Given the description of an element on the screen output the (x, y) to click on. 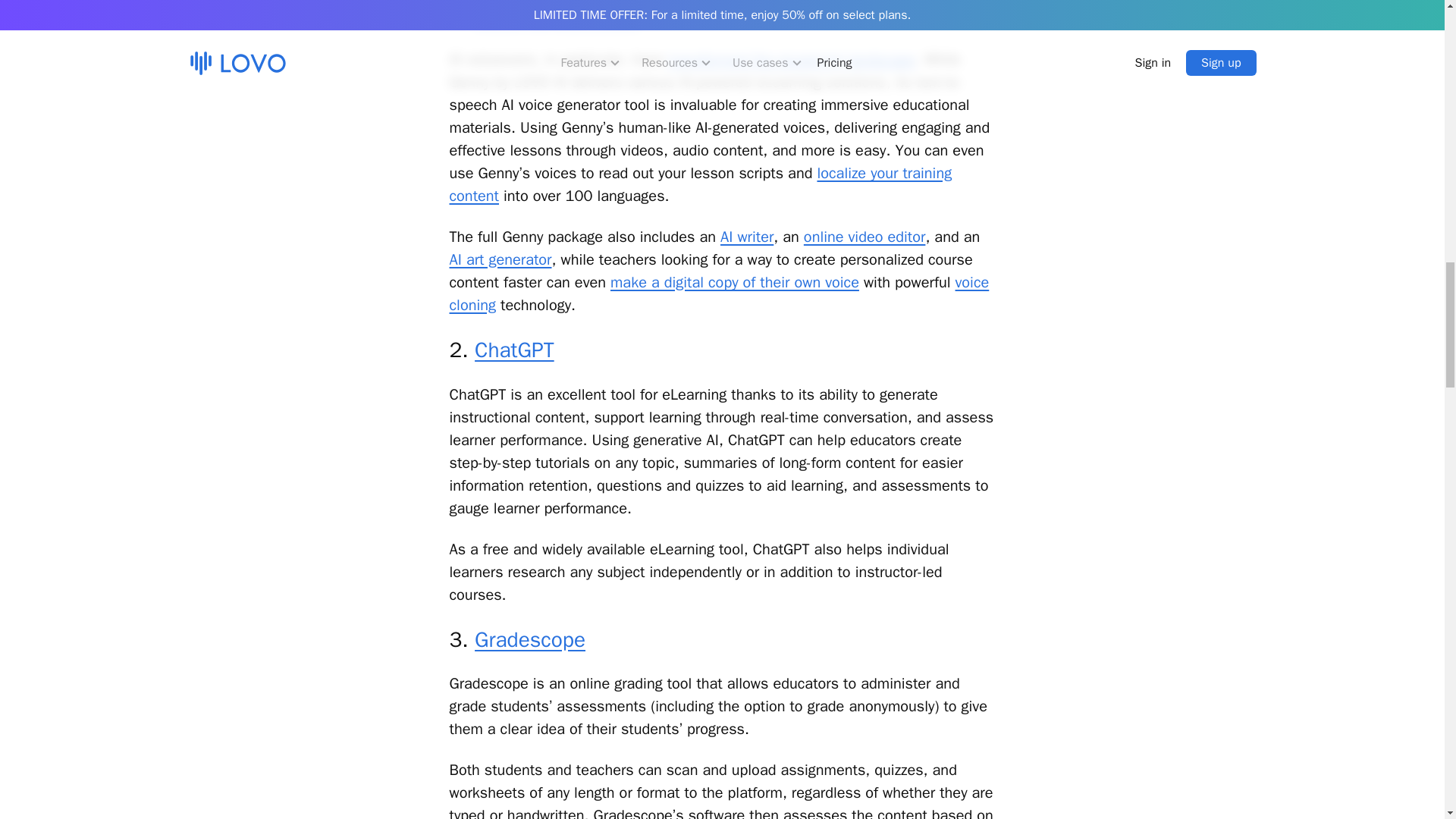
ChatGPT (514, 349)
Gradescope (529, 639)
AI writer (746, 236)
transformed the eLearning landscape (791, 58)
online video editor (864, 236)
AI art generator (499, 259)
localize your training content (700, 184)
make a digital copy of their own voice (734, 281)
voice cloning (718, 293)
Genny by LOVO AI (556, 15)
